Given the description of an element on the screen output the (x, y) to click on. 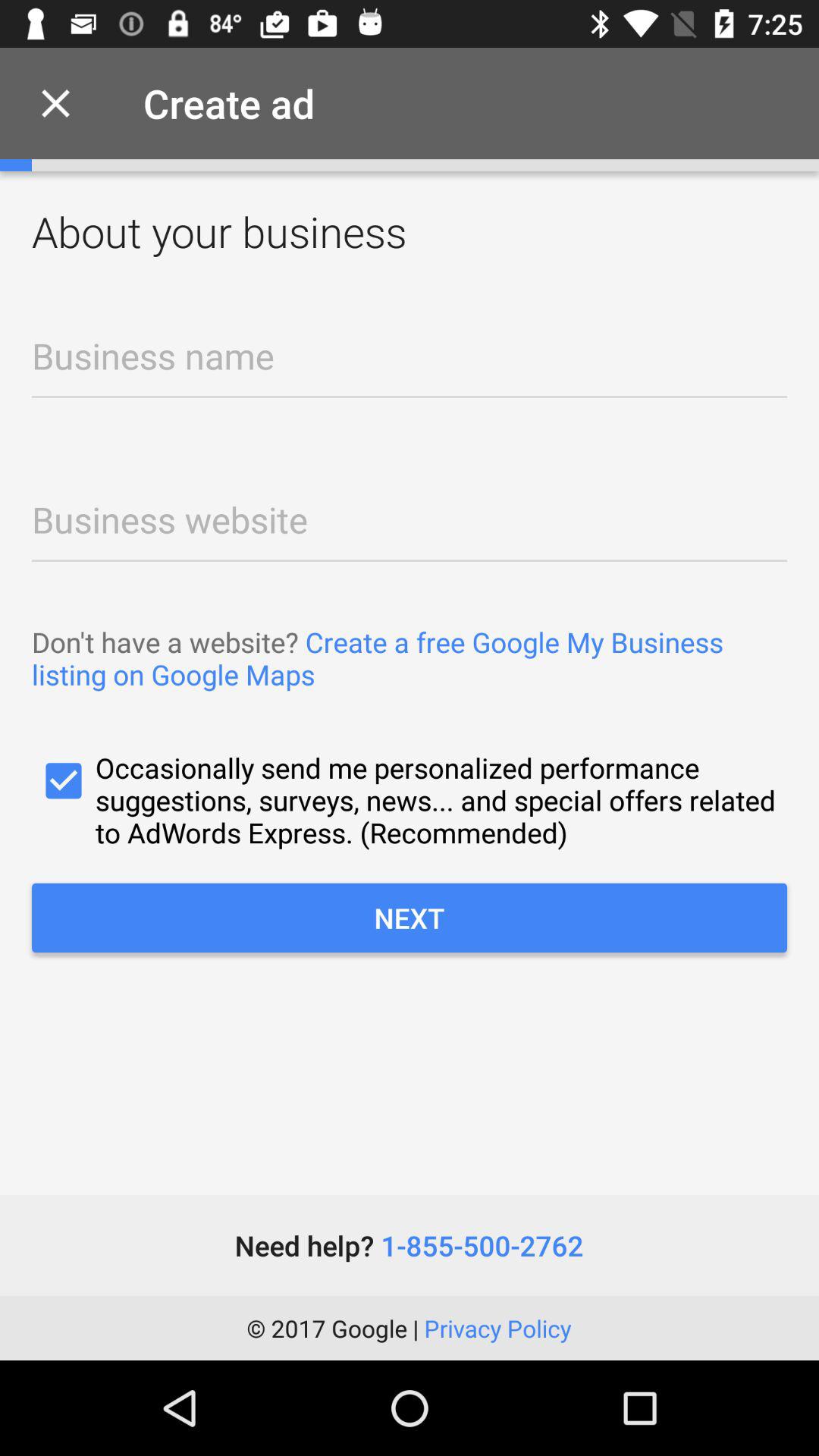
launch the occasionally send me icon (409, 800)
